Given the description of an element on the screen output the (x, y) to click on. 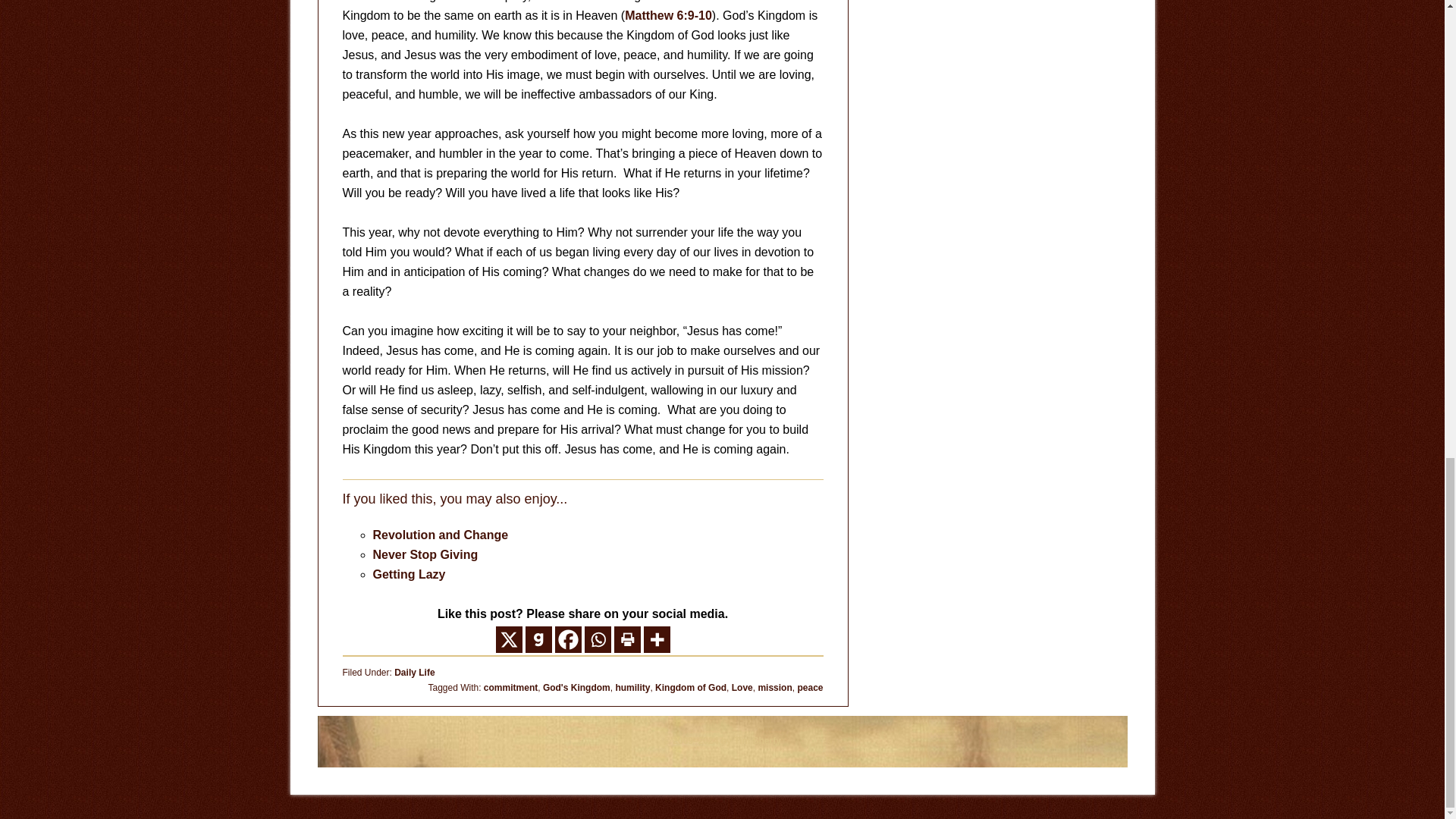
Getting Lazy (408, 574)
humility (631, 687)
X (509, 639)
peace (809, 687)
God's Kingdom (576, 687)
Revolution and Change (440, 534)
Never Stop Giving (425, 554)
mission (774, 687)
Daily Life (413, 672)
Kingdom of God (690, 687)
Print (627, 639)
Never Stop Giving (425, 554)
More (656, 639)
Matthew 6:9-10 (667, 15)
Whatsapp (596, 639)
